Given the description of an element on the screen output the (x, y) to click on. 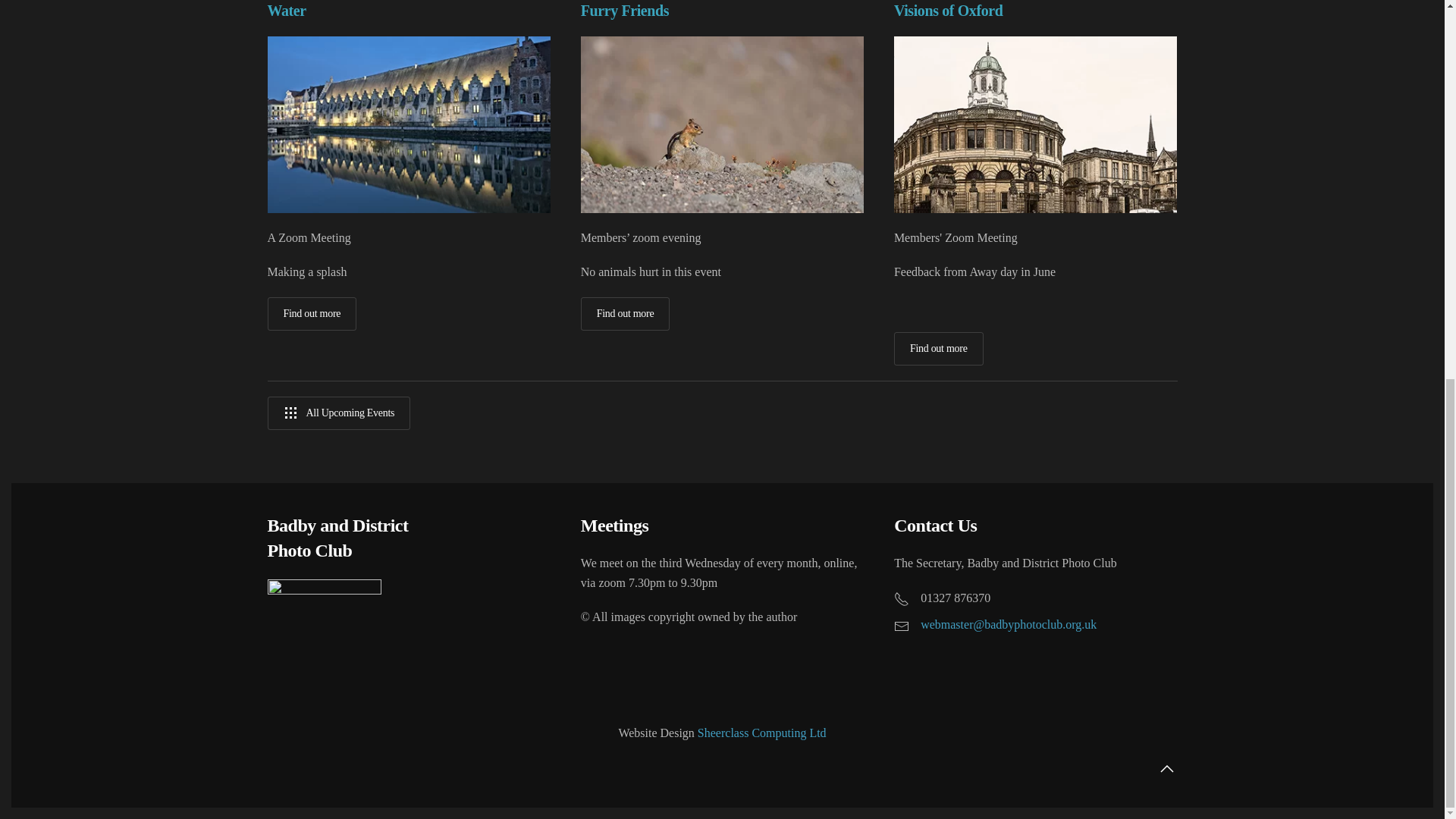
All Upcoming Events (338, 412)
Find out more (938, 348)
Find out more (624, 313)
Water (285, 10)
Visions of Oxford (948, 10)
Furry Friends (624, 10)
Sheerclass Computing Ltd (762, 732)
Find out more (311, 313)
